Given the description of an element on the screen output the (x, y) to click on. 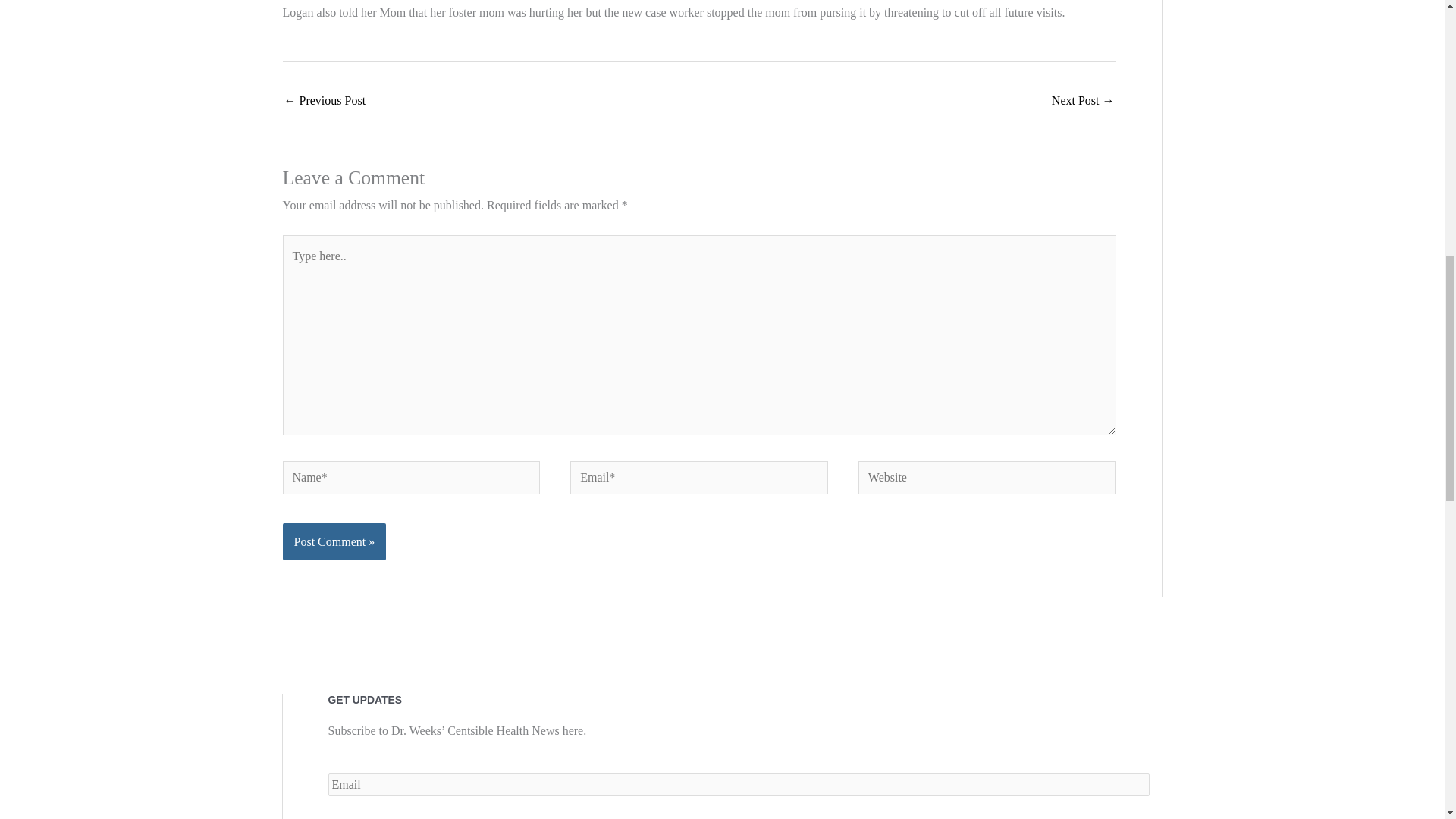
Parents sue state for charing them with kidnapping (324, 101)
Email (737, 784)
The History Teacher   (1083, 101)
